Given the description of an element on the screen output the (x, y) to click on. 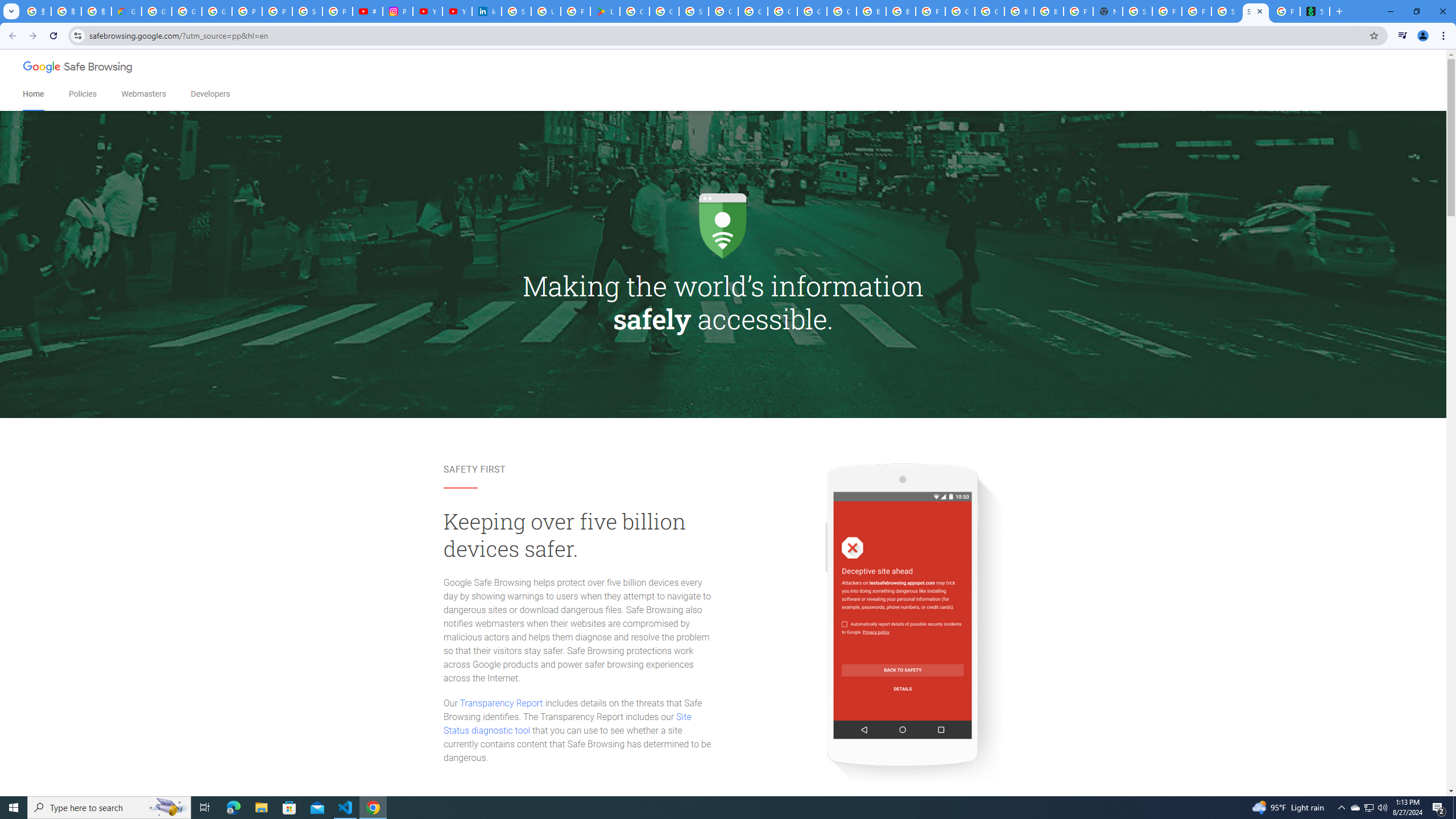
Site Status diagnostic tool (566, 723)
New Tab (1107, 11)
Sign in - Google Accounts (1137, 11)
